Given the description of an element on the screen output the (x, y) to click on. 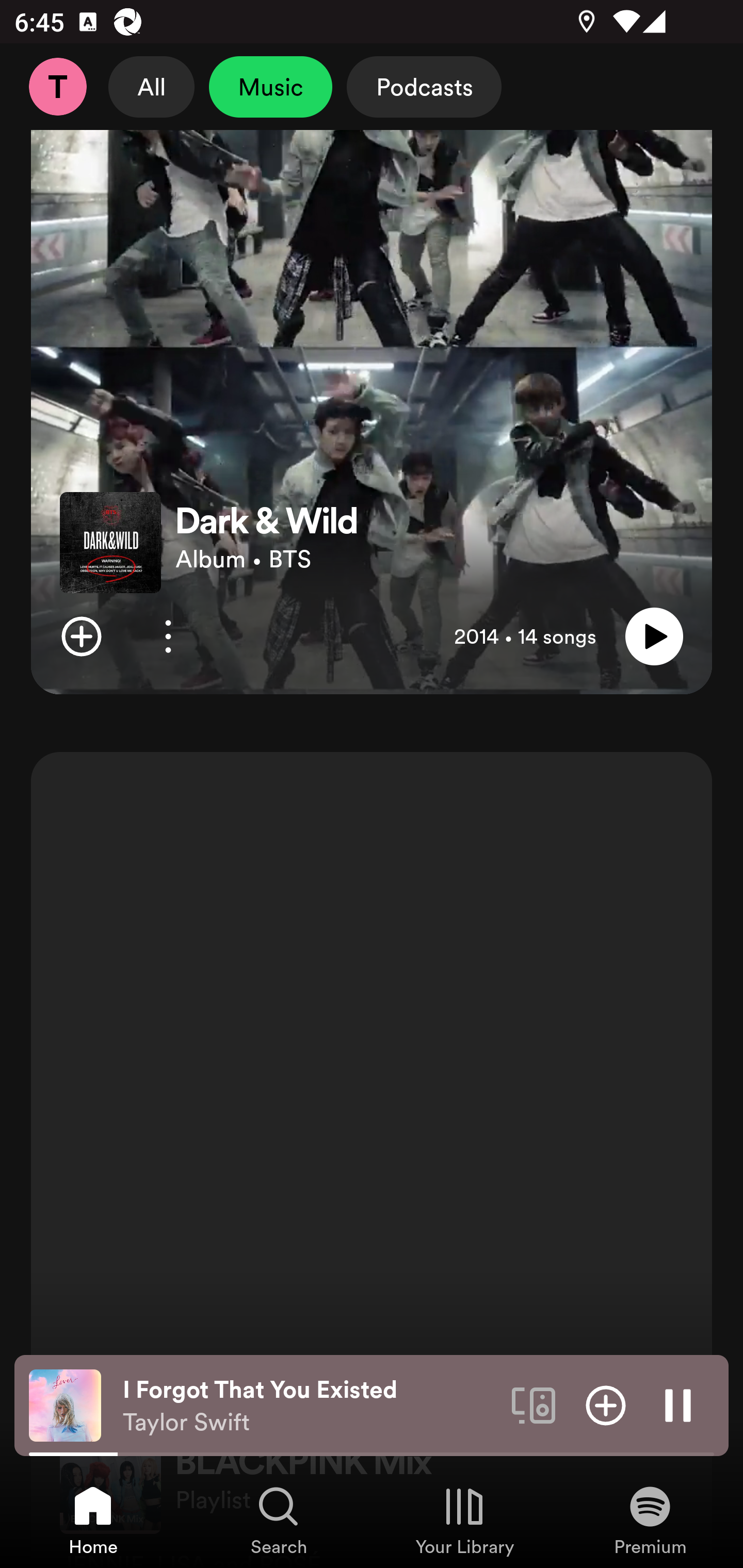
Profile (57, 86)
All Select All (151, 86)
Music Unselect Music (270, 86)
Podcasts Select Podcasts (423, 86)
Add item (80, 636)
Play (653, 636)
I Forgot That You Existed Taylor Swift (309, 1405)
The cover art of the currently playing track (64, 1404)
Connect to a device. Opens the devices menu (533, 1404)
Add item (605, 1404)
Pause (677, 1404)
Home, Tab 1 of 4 Home Home (92, 1519)
Search, Tab 2 of 4 Search Search (278, 1519)
Your Library, Tab 3 of 4 Your Library Your Library (464, 1519)
Premium, Tab 4 of 4 Premium Premium (650, 1519)
